Given the description of an element on the screen output the (x, y) to click on. 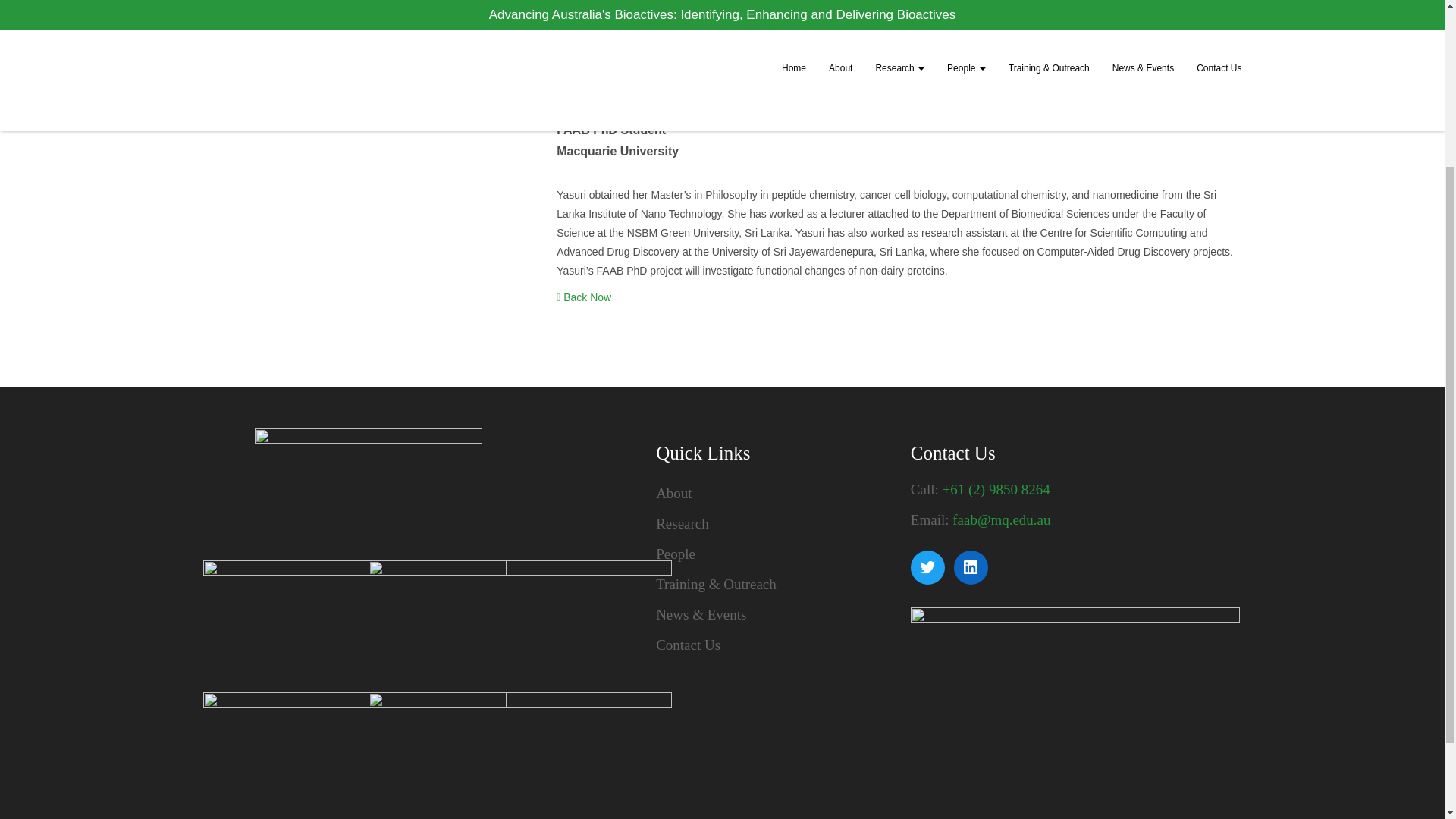
About (772, 493)
Back Now (583, 297)
People (772, 553)
Research (772, 523)
